Given the description of an element on the screen output the (x, y) to click on. 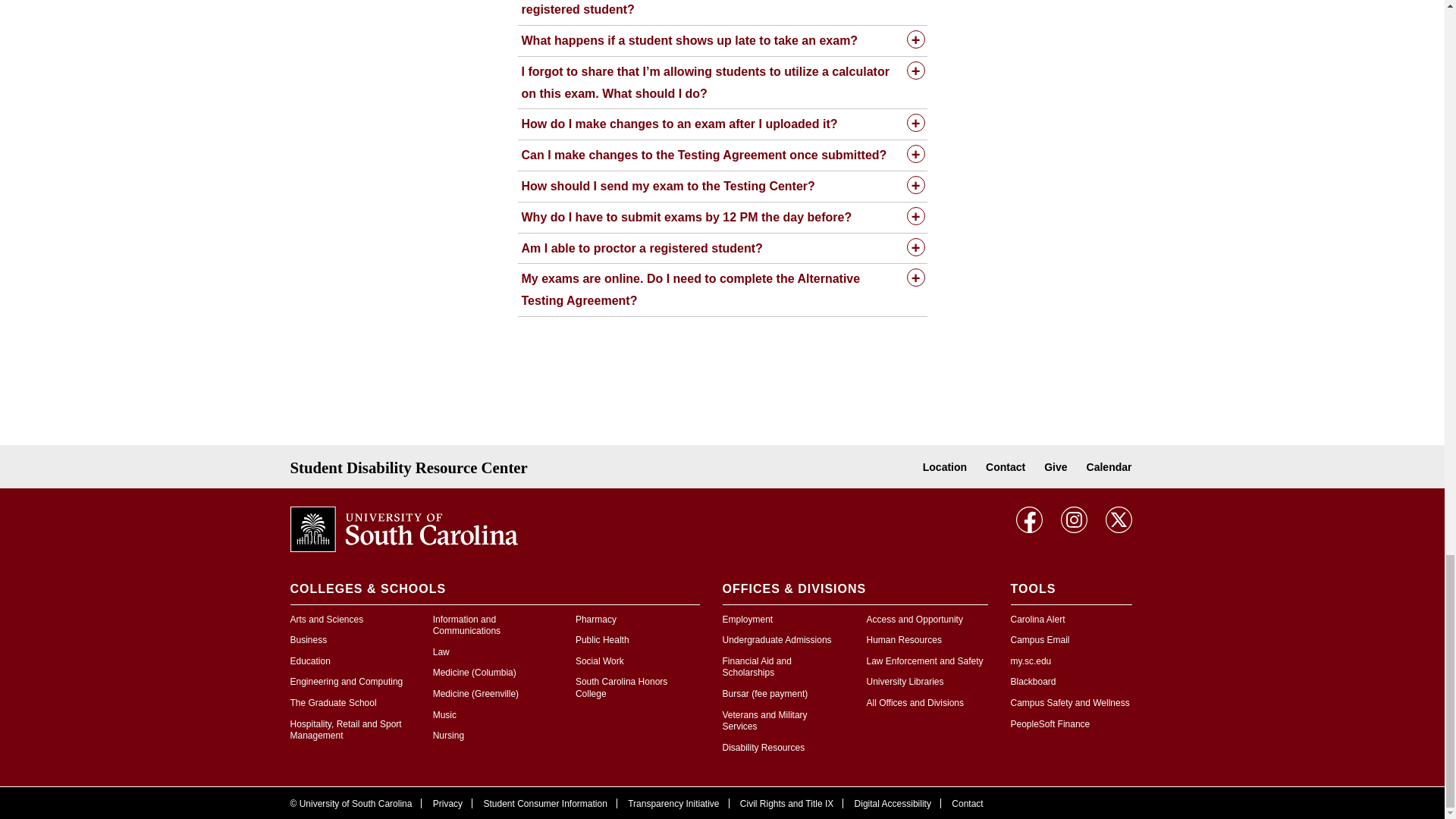
University of South Carolina (402, 527)
